Given the description of an element on the screen output the (x, y) to click on. 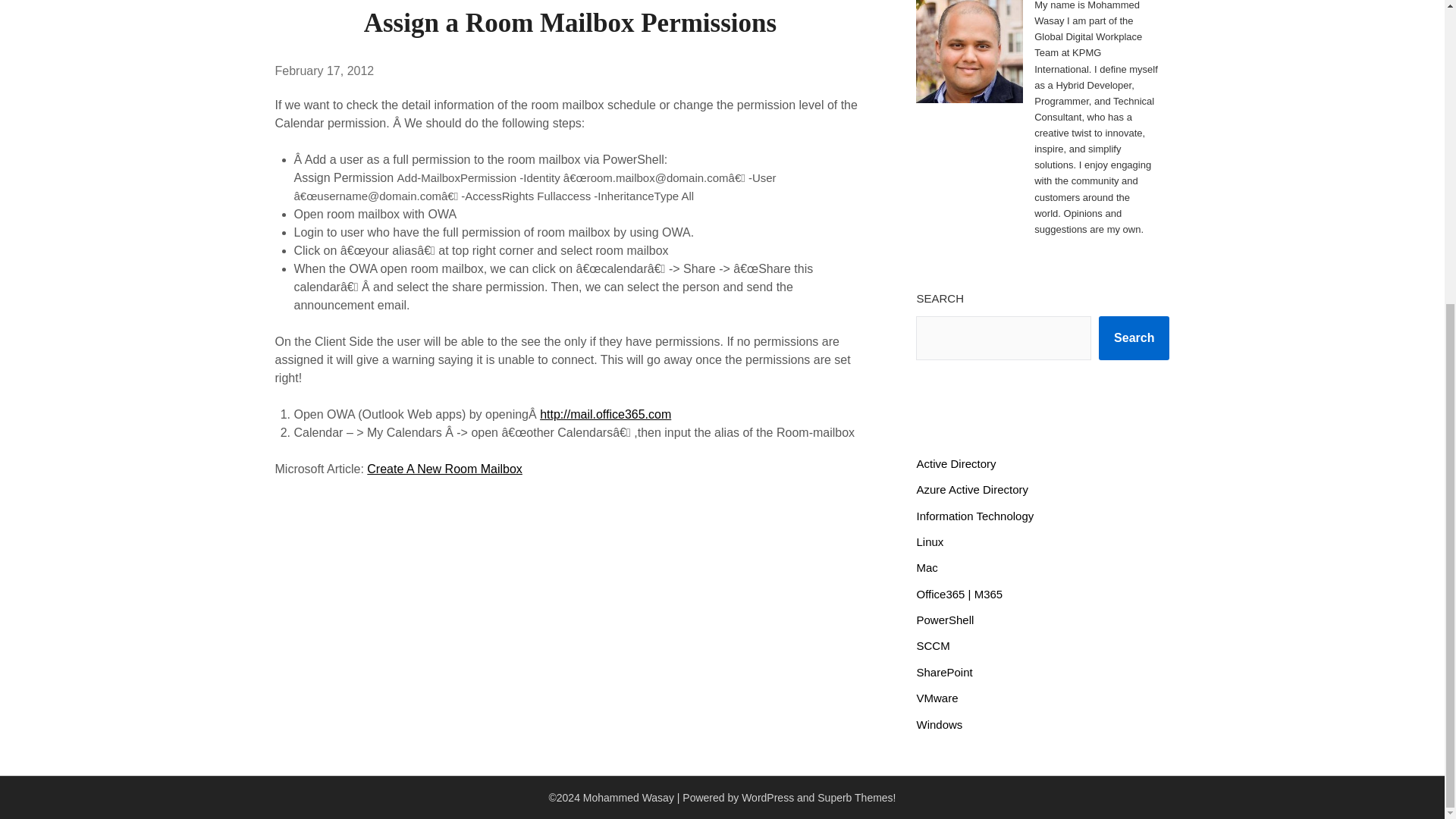
February 17, 2012 (324, 70)
Windows (938, 724)
Information Technology (974, 515)
Linux (929, 541)
Azure Active Directory (971, 489)
PowerShell (944, 619)
Search (1134, 338)
Create A New Room Mailbox (444, 468)
SCCM (932, 645)
Mac (926, 567)
